Given the description of an element on the screen output the (x, y) to click on. 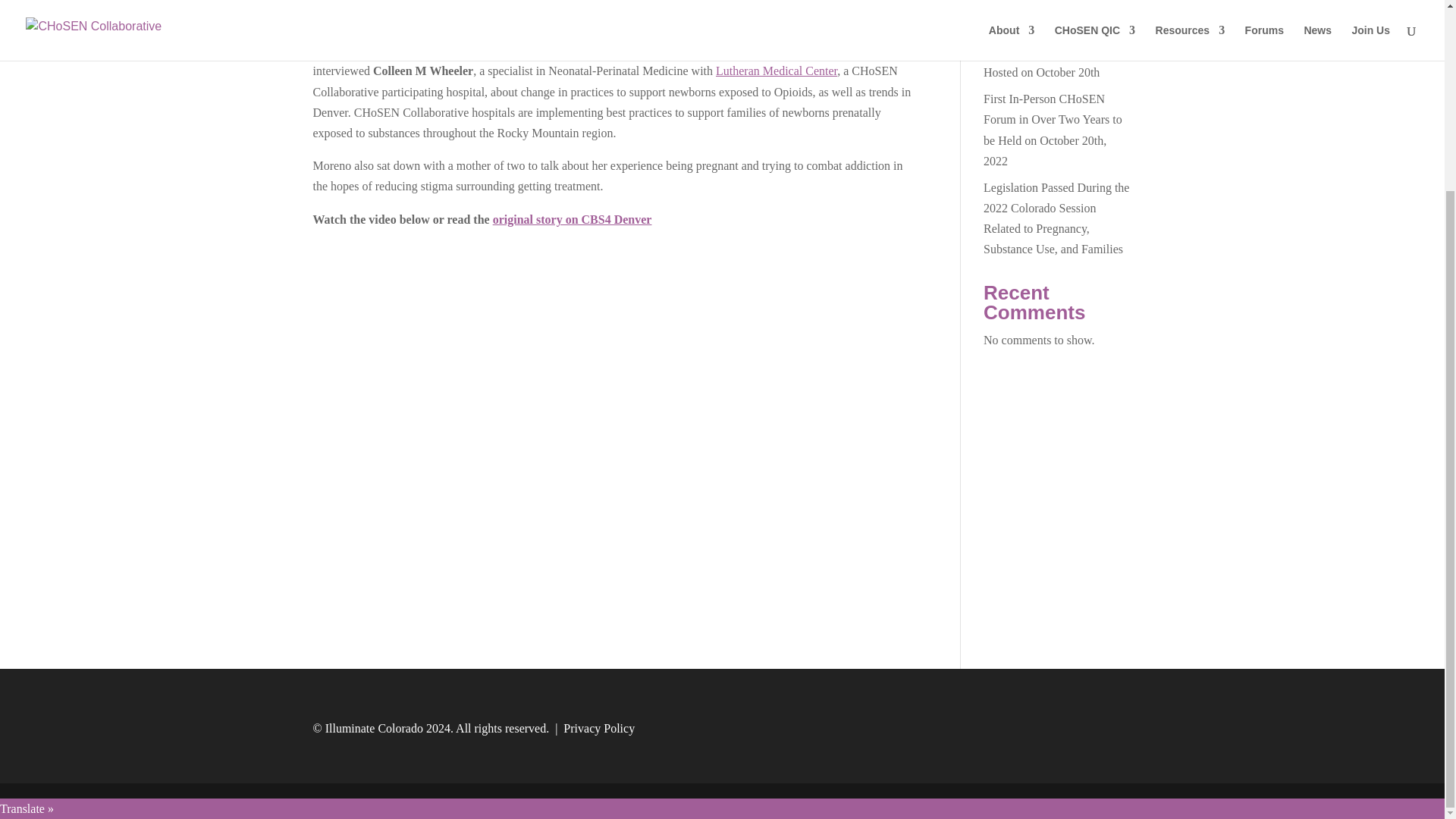
original story on CBS4 Denver (572, 218)
Fall 2022 CHoSEN Forum Hosted on October 20th (1048, 61)
Lutheran Medical Center (776, 70)
Privacy Policy (598, 727)
April 2023 CHoSEN Forum Hosted on April 18th (1052, 15)
